Given the description of an element on the screen output the (x, y) to click on. 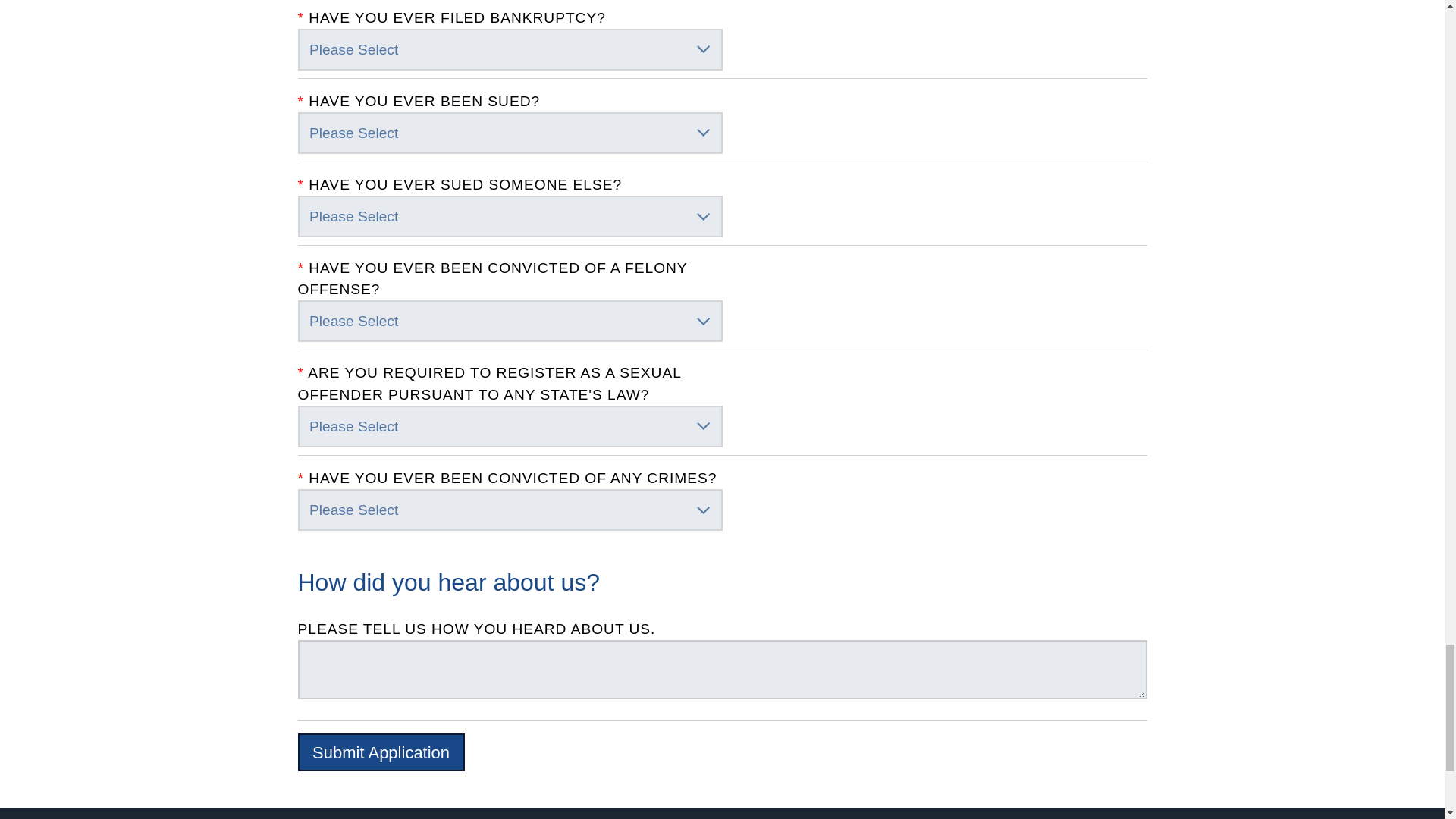
Submit Application (380, 752)
